Given the description of an element on the screen output the (x, y) to click on. 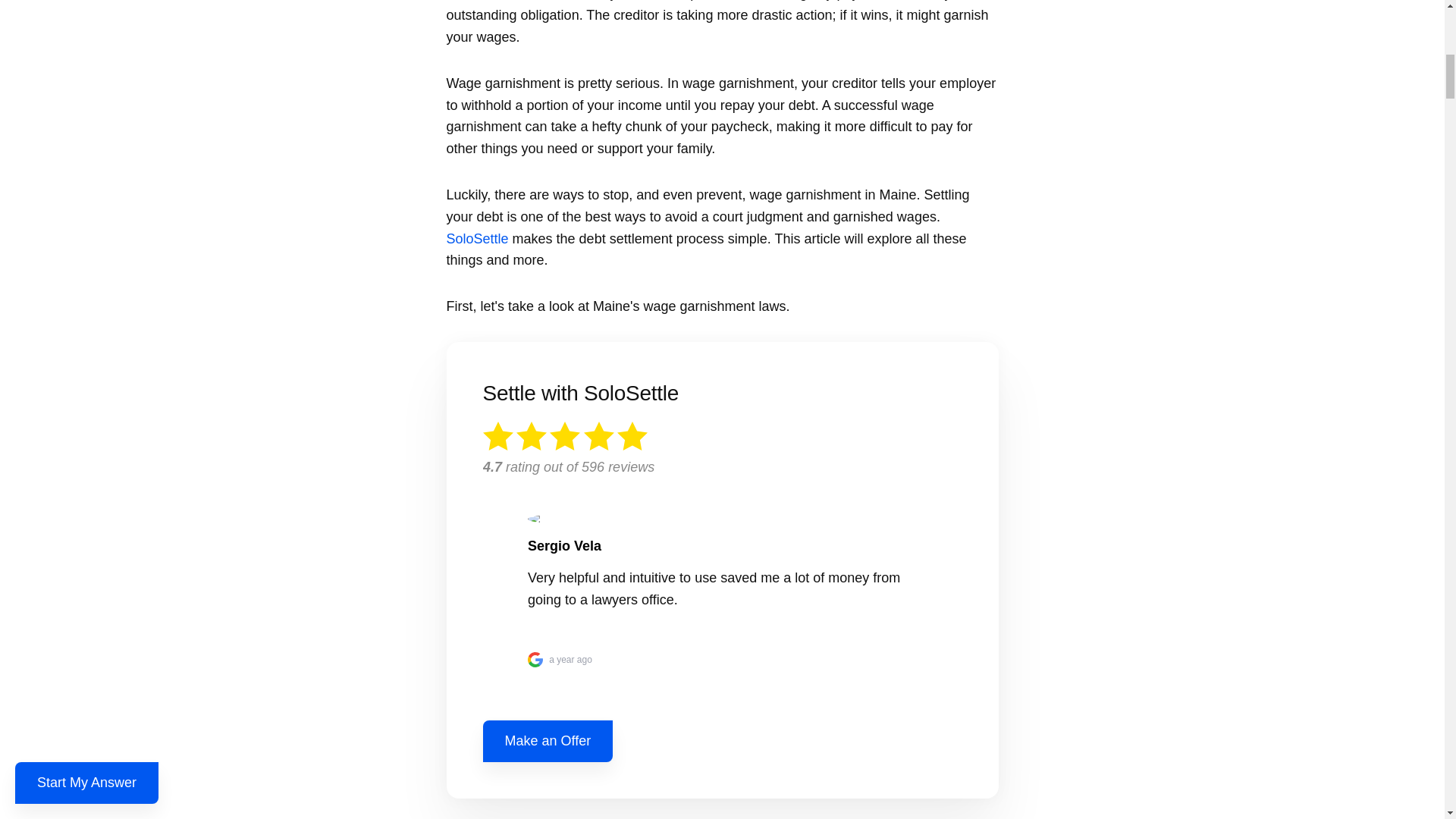
Make an Offer (546, 741)
EmbedReviews widget (720, 557)
SoloSettle (476, 238)
